Given the description of an element on the screen output the (x, y) to click on. 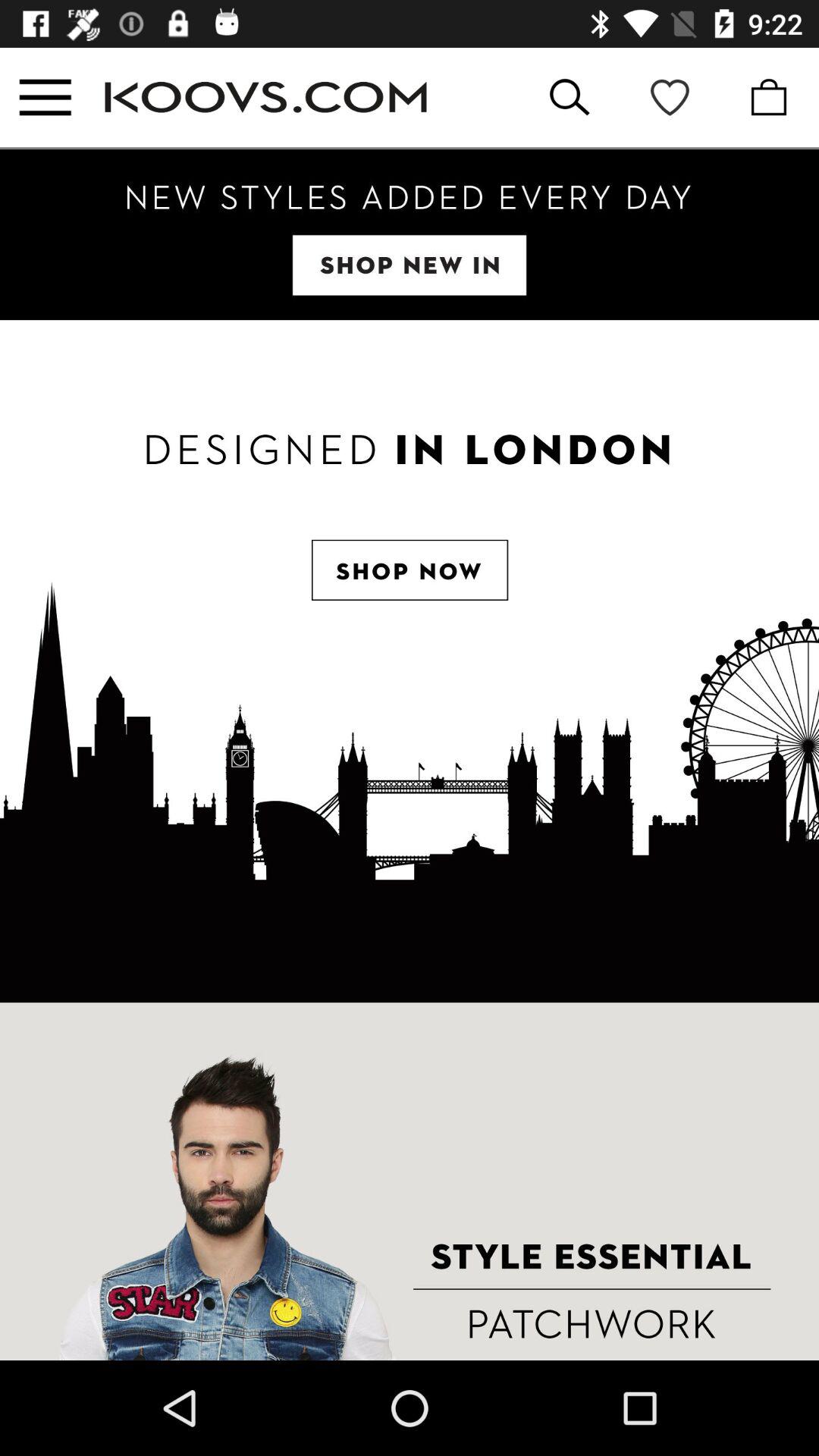
view new styles (409, 234)
